Given the description of an element on the screen output the (x, y) to click on. 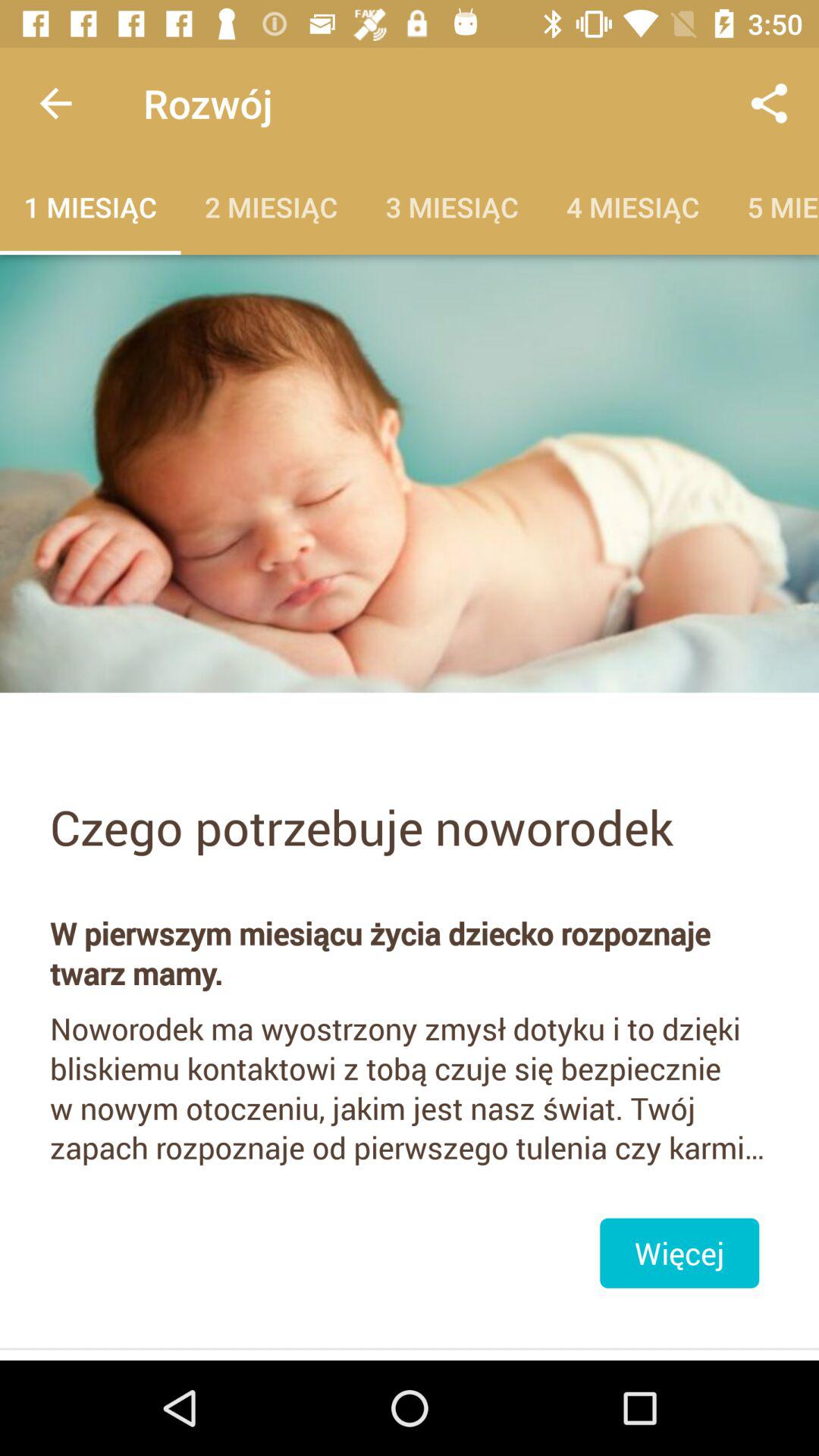
turn off the item below the noworodek ma wyostrzony (679, 1252)
